Given the description of an element on the screen output the (x, y) to click on. 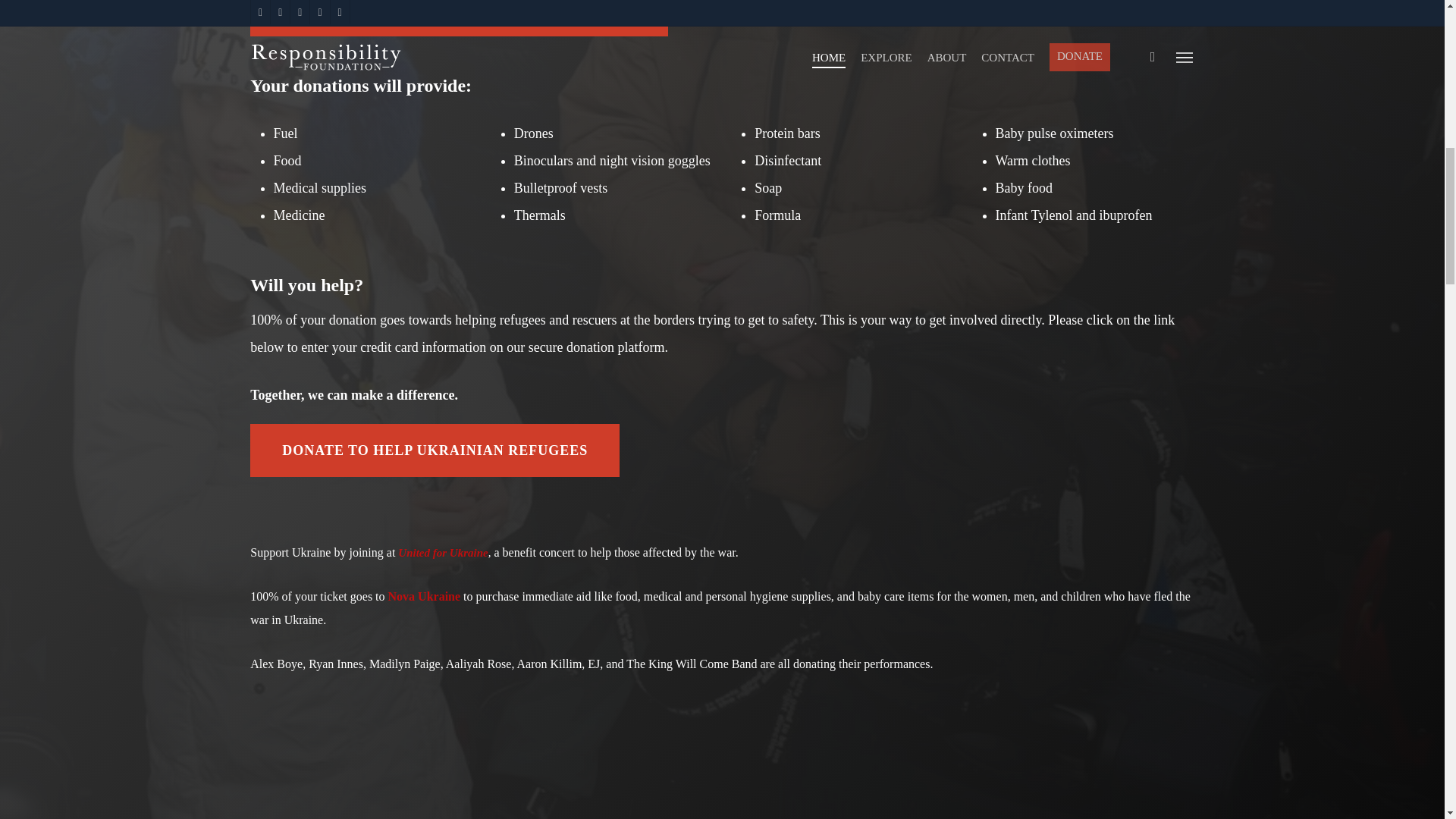
Nova Ukraine (424, 595)
United for Ukraine (442, 552)
DONATE TO HELP UKRAINIAN REFUGEES (435, 450)
SEE THOSE WHO HAVE ALREADY BEEN HELPED (458, 18)
